Given the description of an element on the screen output the (x, y) to click on. 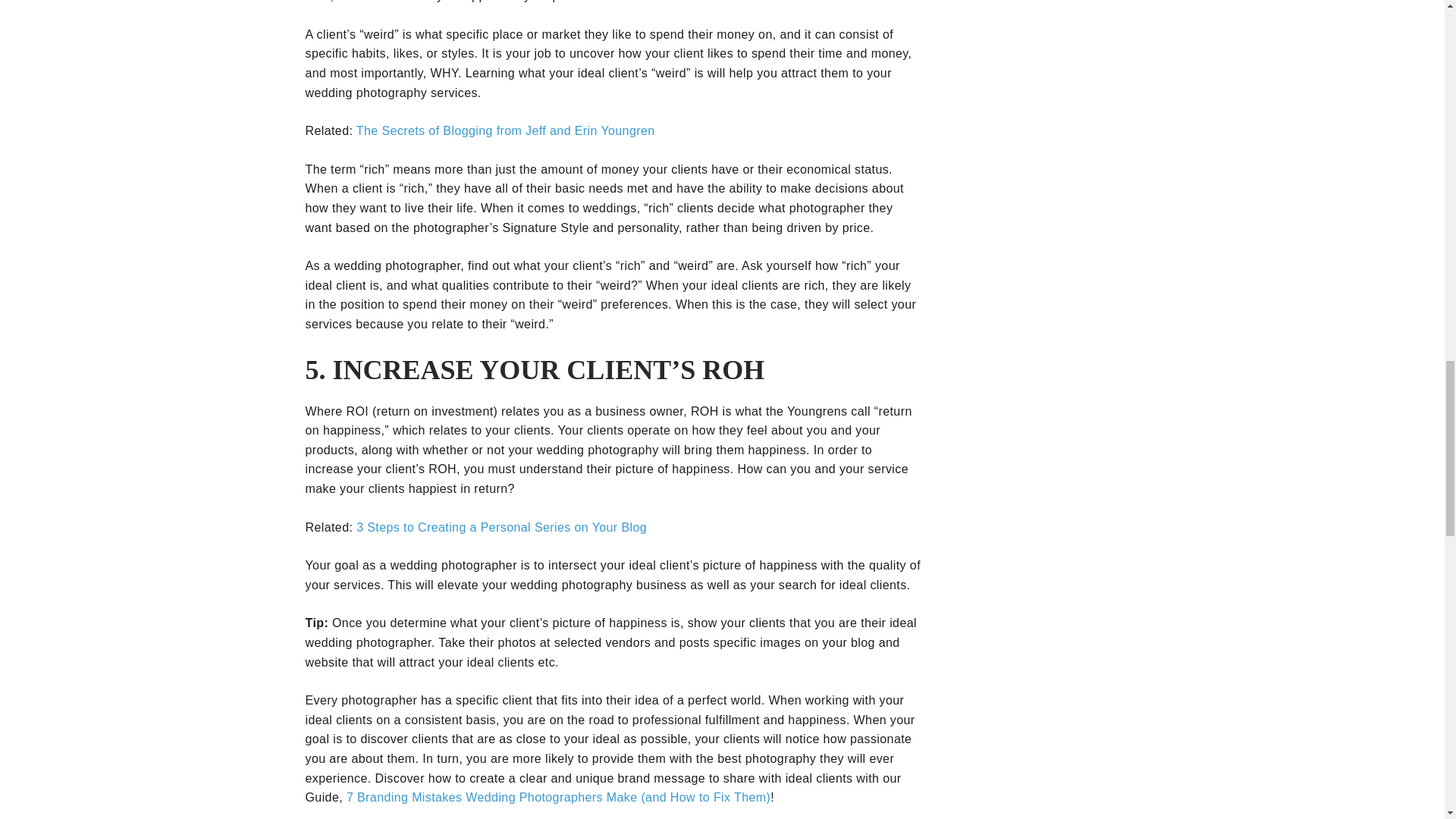
Blogging for the Savvy Photographer Webinar (505, 130)
